Given the description of an element on the screen output the (x, y) to click on. 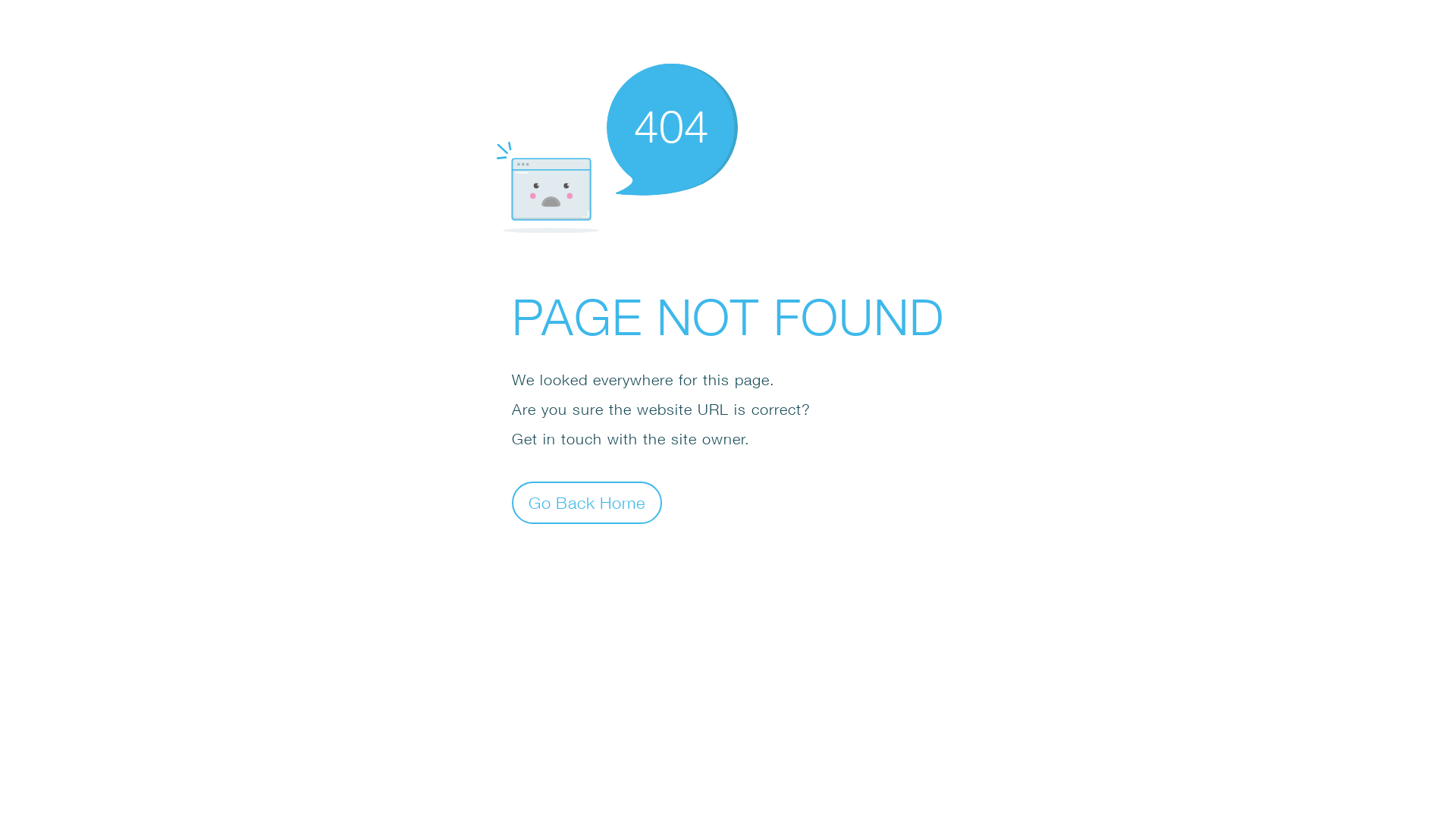
Go Back Home Element type: text (586, 502)
